Given the description of an element on the screen output the (x, y) to click on. 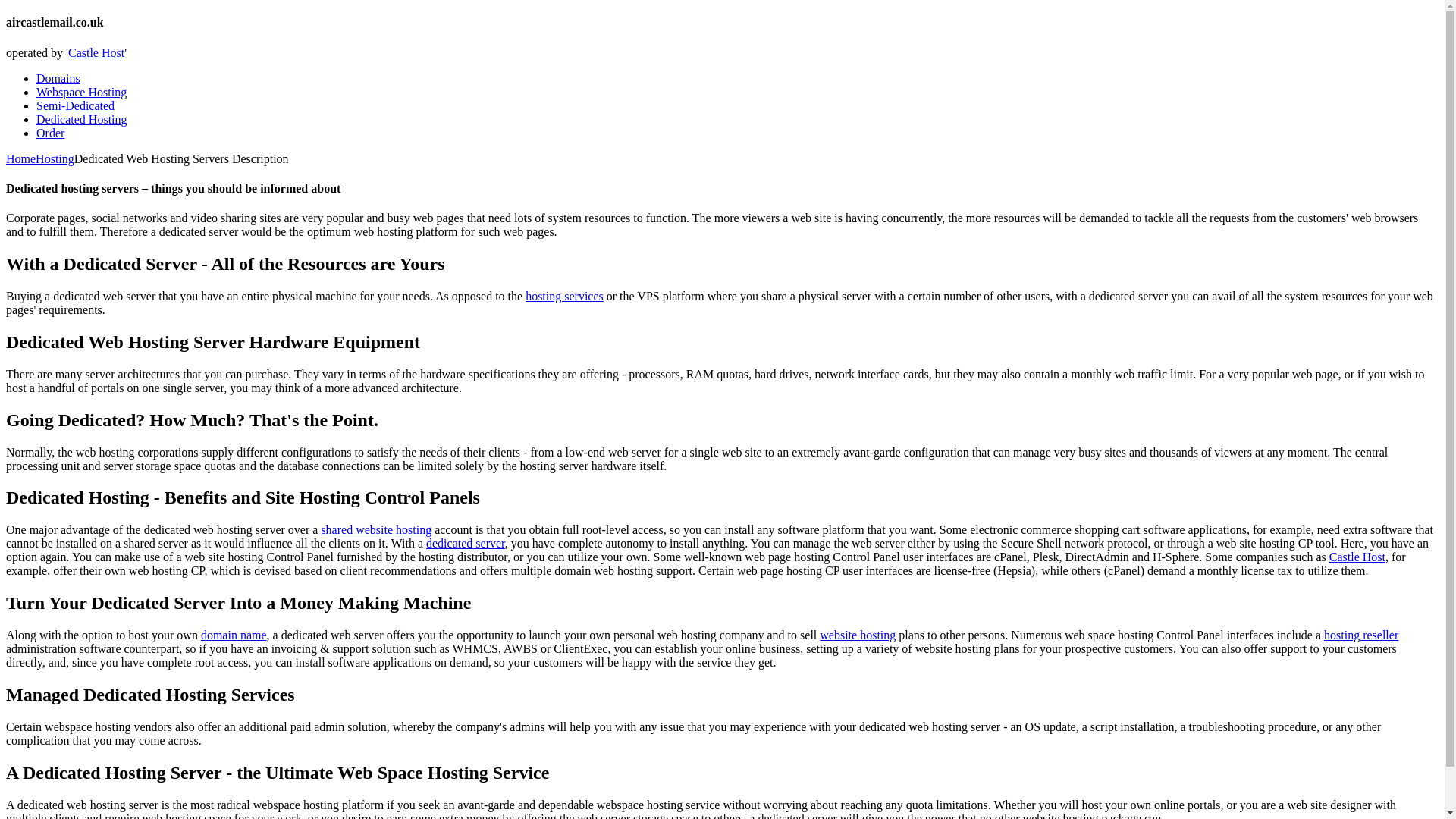
Webspace Hosting (81, 91)
Order (50, 132)
Home (19, 158)
dedicated server (465, 543)
Castle Host (95, 51)
shared website hosting (375, 529)
website hosting (857, 634)
Semi-Dedicated (75, 105)
Castle Host (1357, 556)
Dedicated Hosting (82, 119)
hosting services (564, 295)
hosting reseller (1360, 634)
Domains (58, 78)
Hosting (54, 158)
domain name (233, 634)
